Given the description of an element on the screen output the (x, y) to click on. 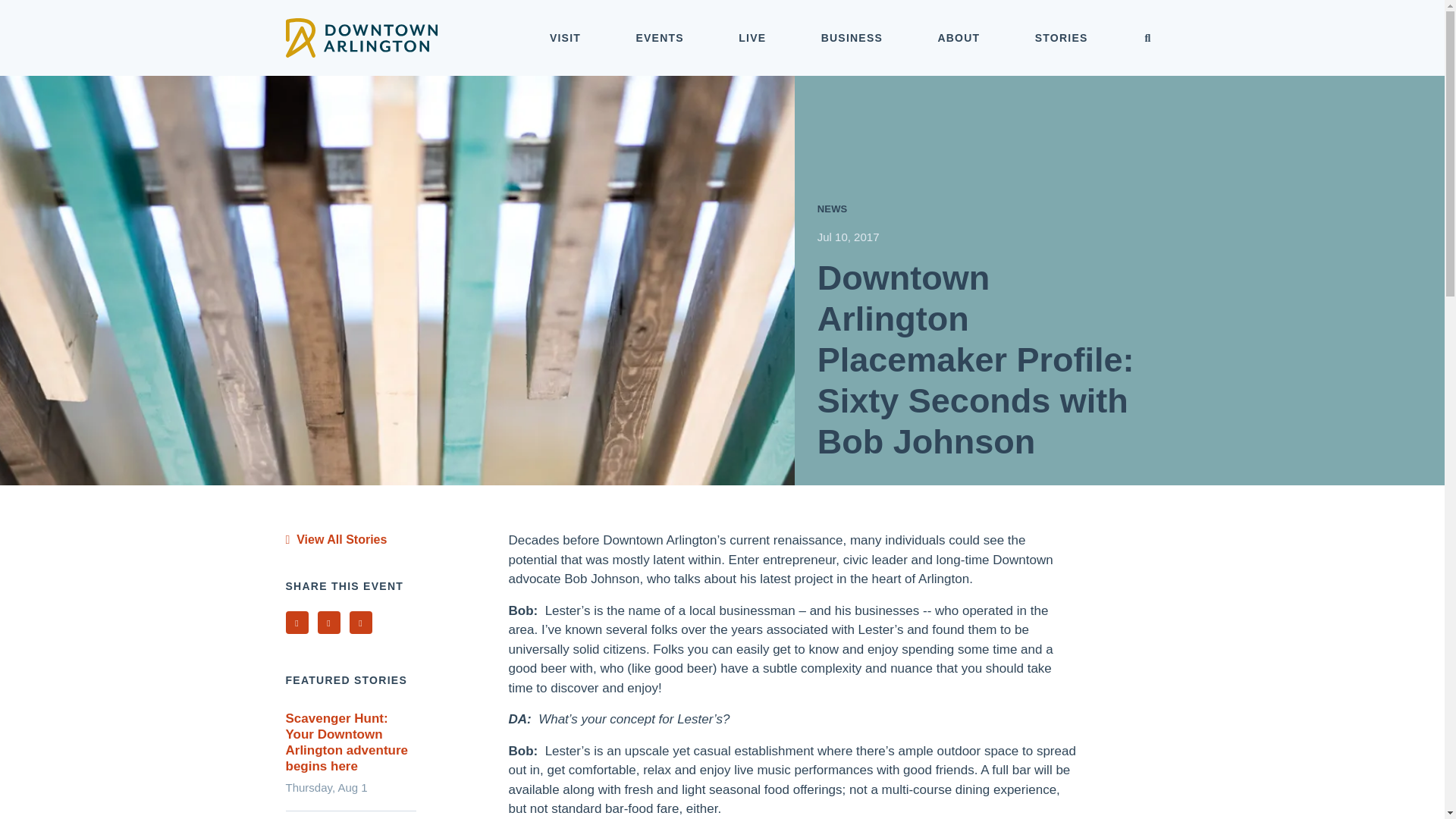
LIVE (752, 38)
VISIT (565, 38)
BUSINESS (851, 38)
ABOUT (958, 38)
EVENTS (659, 38)
submit (1147, 38)
